Given the description of an element on the screen output the (x, y) to click on. 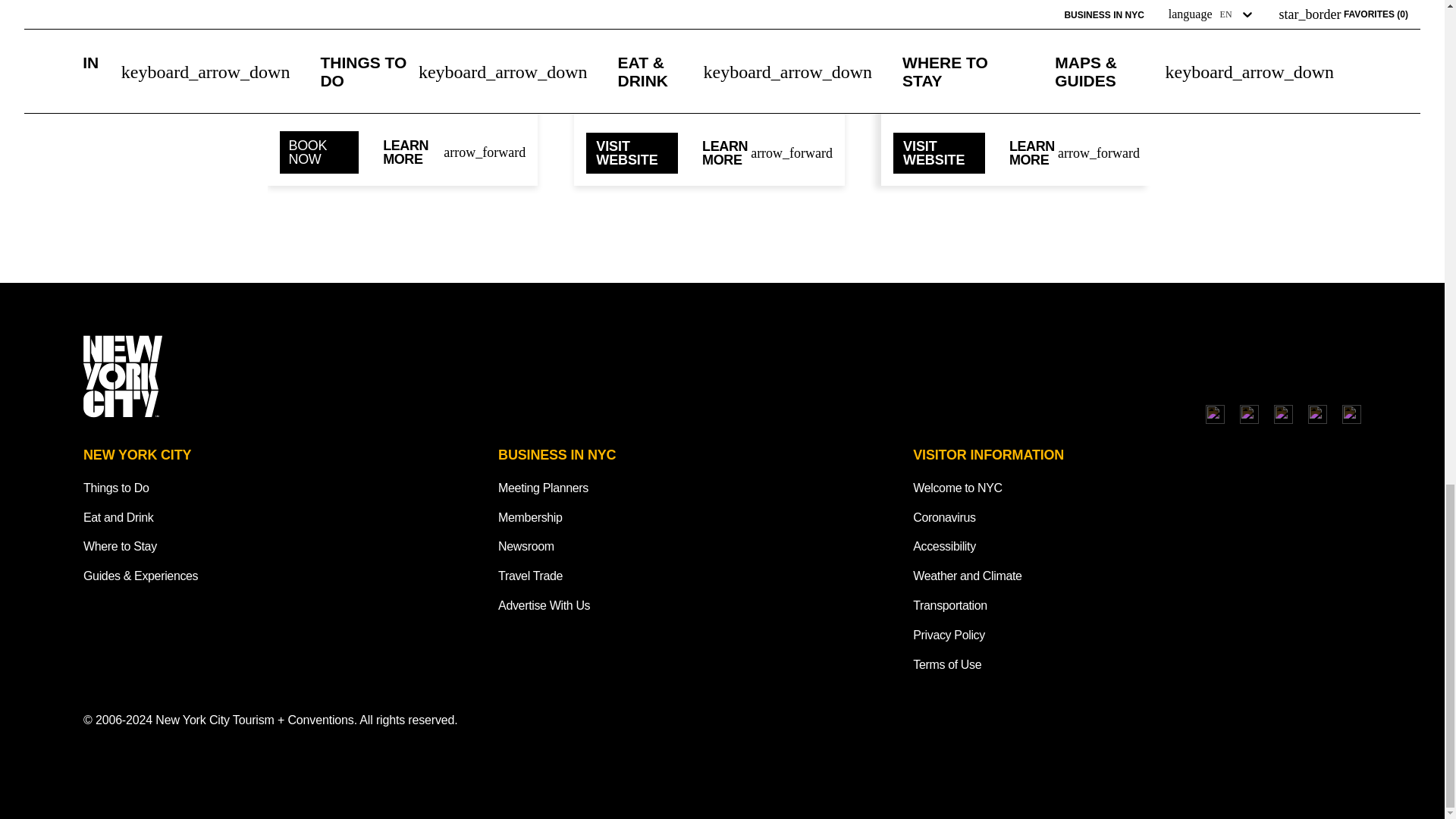
New York City Tourism and Conventions Pinterest (1351, 414)
Richmond County Fair (709, 25)
New York City Tourism and Conventions TikTok (1283, 414)
New York City Tourism and Conventions Facebook (1249, 414)
VISIT WEBSITE (939, 152)
VISIT WEBSITE (632, 152)
New York City Tourism and Conventions Instagram (1214, 414)
BOOK NOW (318, 152)
US Open Tennis Championships (402, 25)
West Indian American Day Carnival (1016, 25)
